Given the description of an element on the screen output the (x, y) to click on. 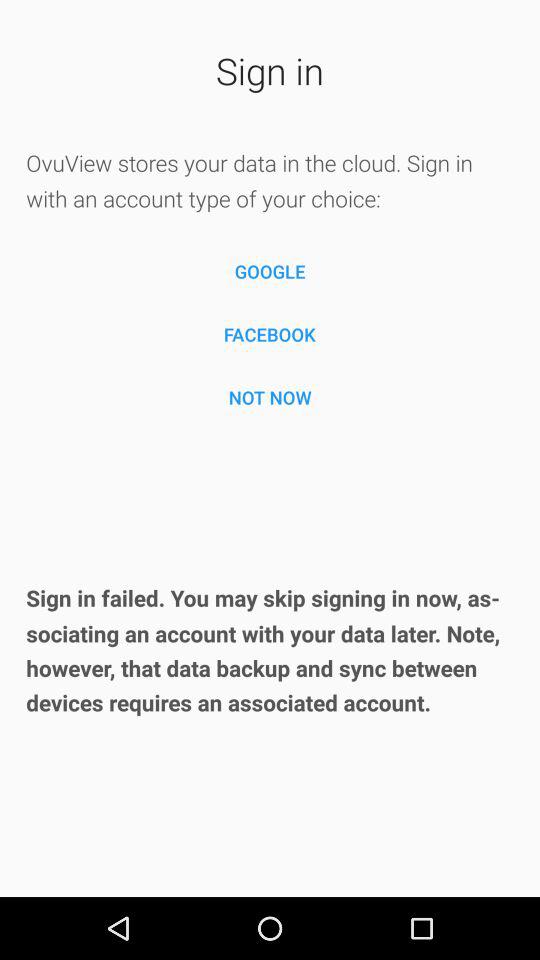
turn on facebook item (269, 334)
